Given the description of an element on the screen output the (x, y) to click on. 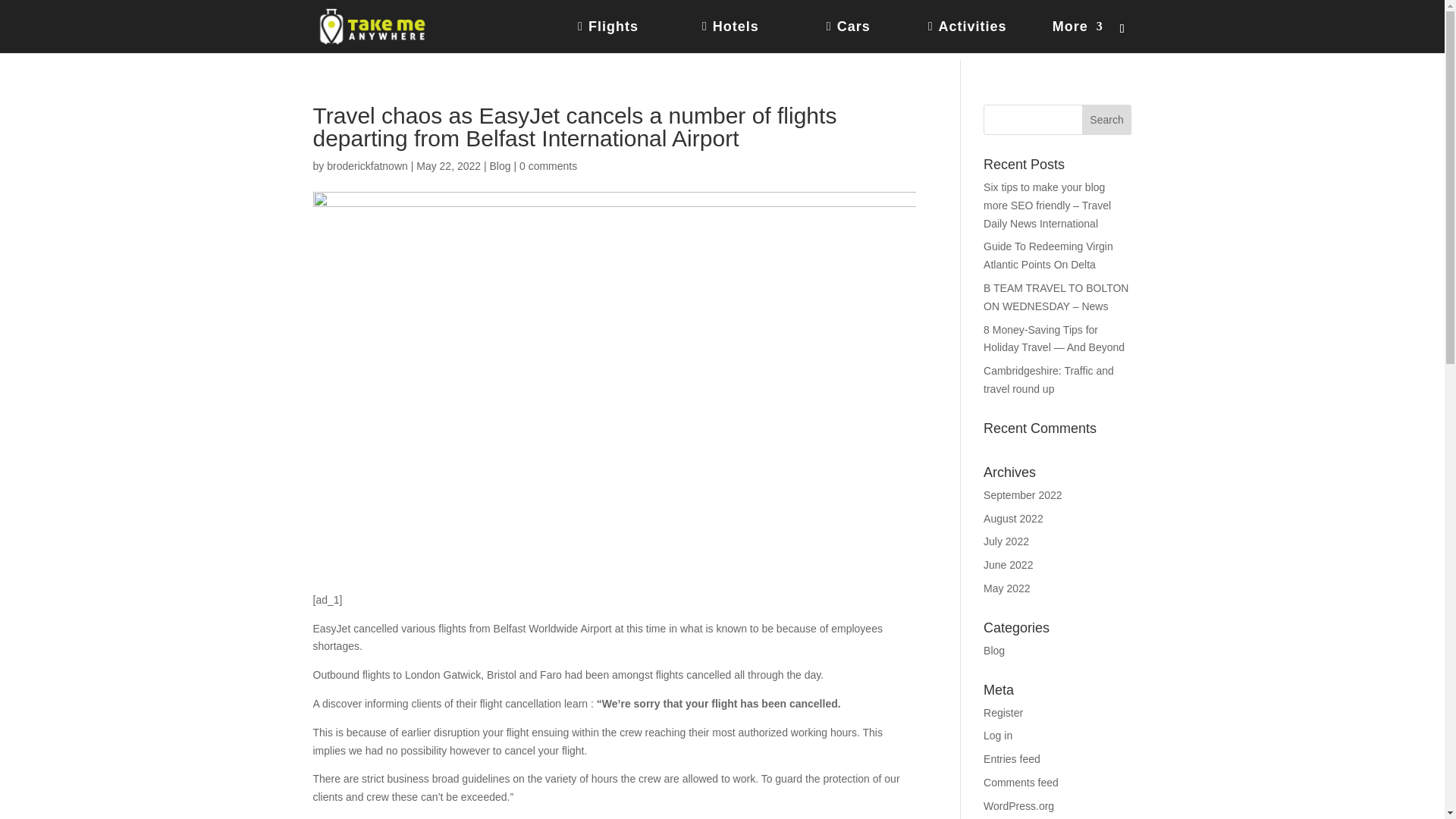
Posts by broderickfatnown (366, 165)
Search (1106, 119)
Search (1106, 119)
Cars (867, 37)
July 2022 (1006, 541)
September 2022 (1023, 494)
Hotels (753, 37)
